Given the description of an element on the screen output the (x, y) to click on. 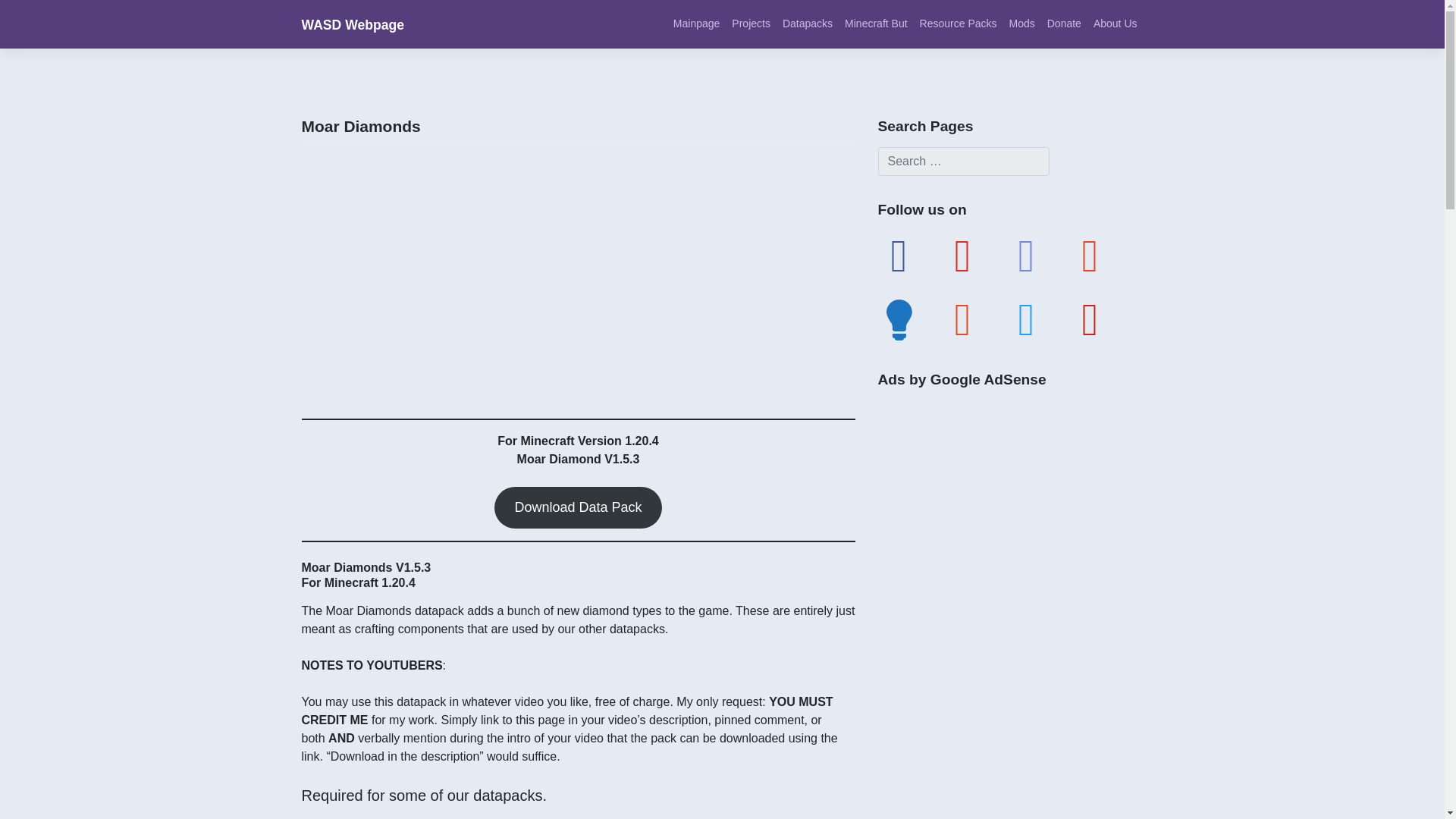
Projects (750, 23)
Search (29, 14)
twitter (1026, 318)
WASD Webpage (352, 24)
Minecraft But (875, 23)
pinterest (1090, 318)
Default Label (962, 254)
Mainpage (696, 23)
Default Label (899, 318)
About Us (1114, 23)
patreon (1090, 254)
lightbulb (899, 318)
Search for: (963, 161)
Default Label (962, 318)
Default Label (1026, 254)
